Given the description of an element on the screen output the (x, y) to click on. 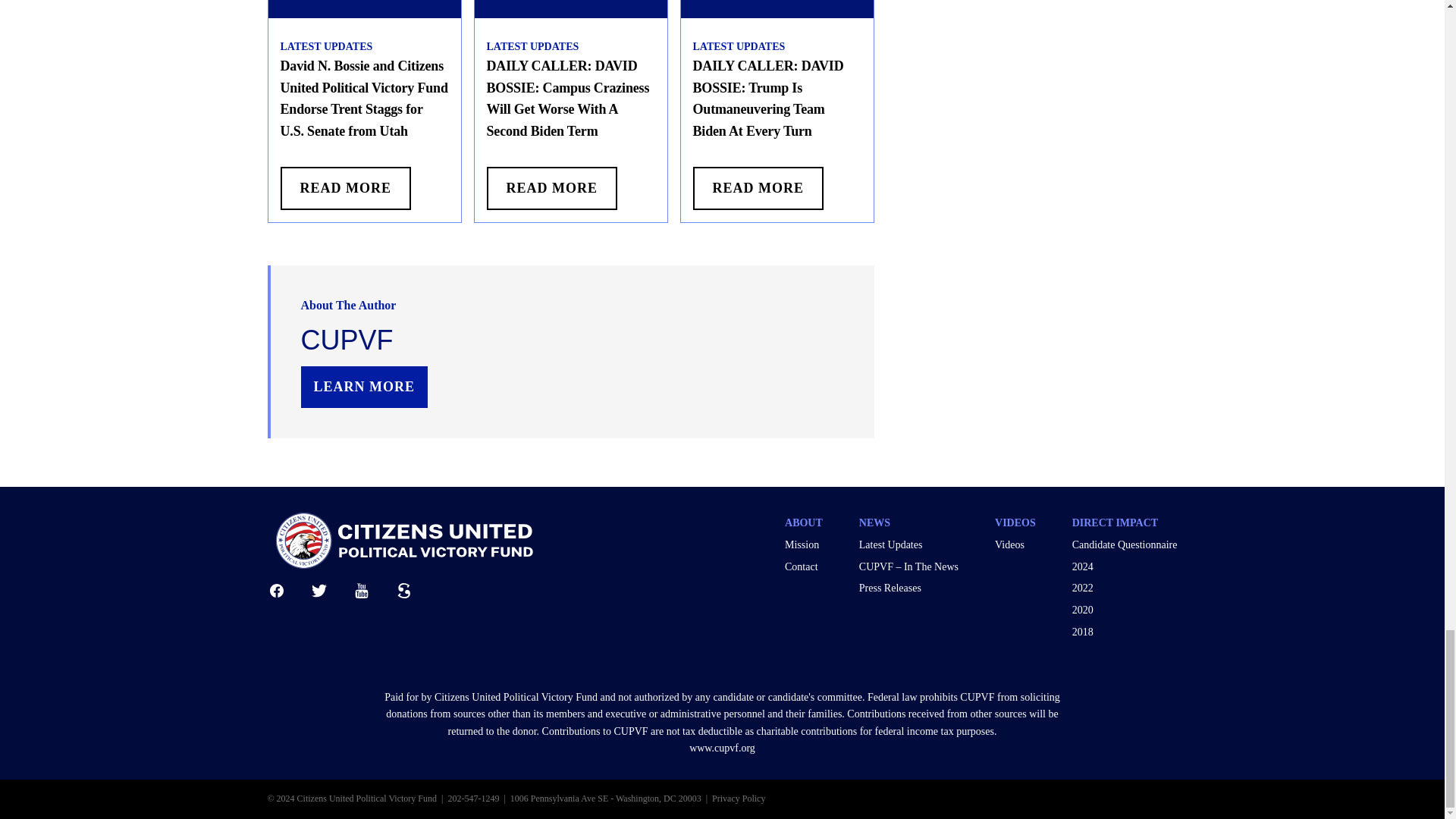
LATEST UPDATES (739, 46)
READ MORE (551, 188)
LATEST UPDATES (532, 46)
READ MORE (758, 188)
LATEST UPDATES (326, 46)
LEARN MORE (363, 386)
READ MORE (345, 188)
